Given the description of an element on the screen output the (x, y) to click on. 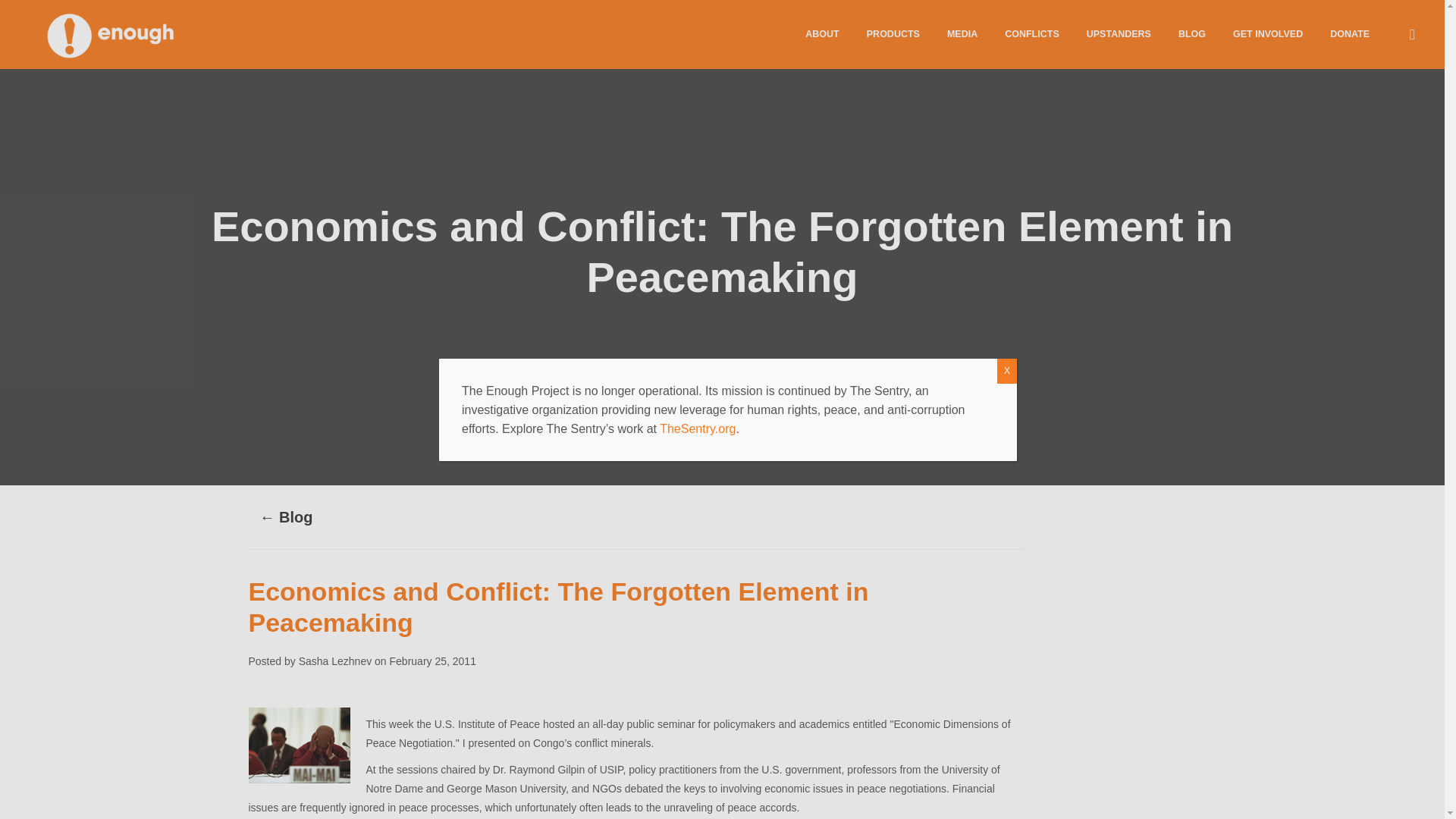
ABOUT (821, 33)
GET INVOLVED (1268, 33)
PRODUCTS (893, 33)
BLOG (1192, 33)
CONFLICTS (1032, 33)
UPSTANDERS (1118, 33)
MEDIA (962, 33)
